Given the description of an element on the screen output the (x, y) to click on. 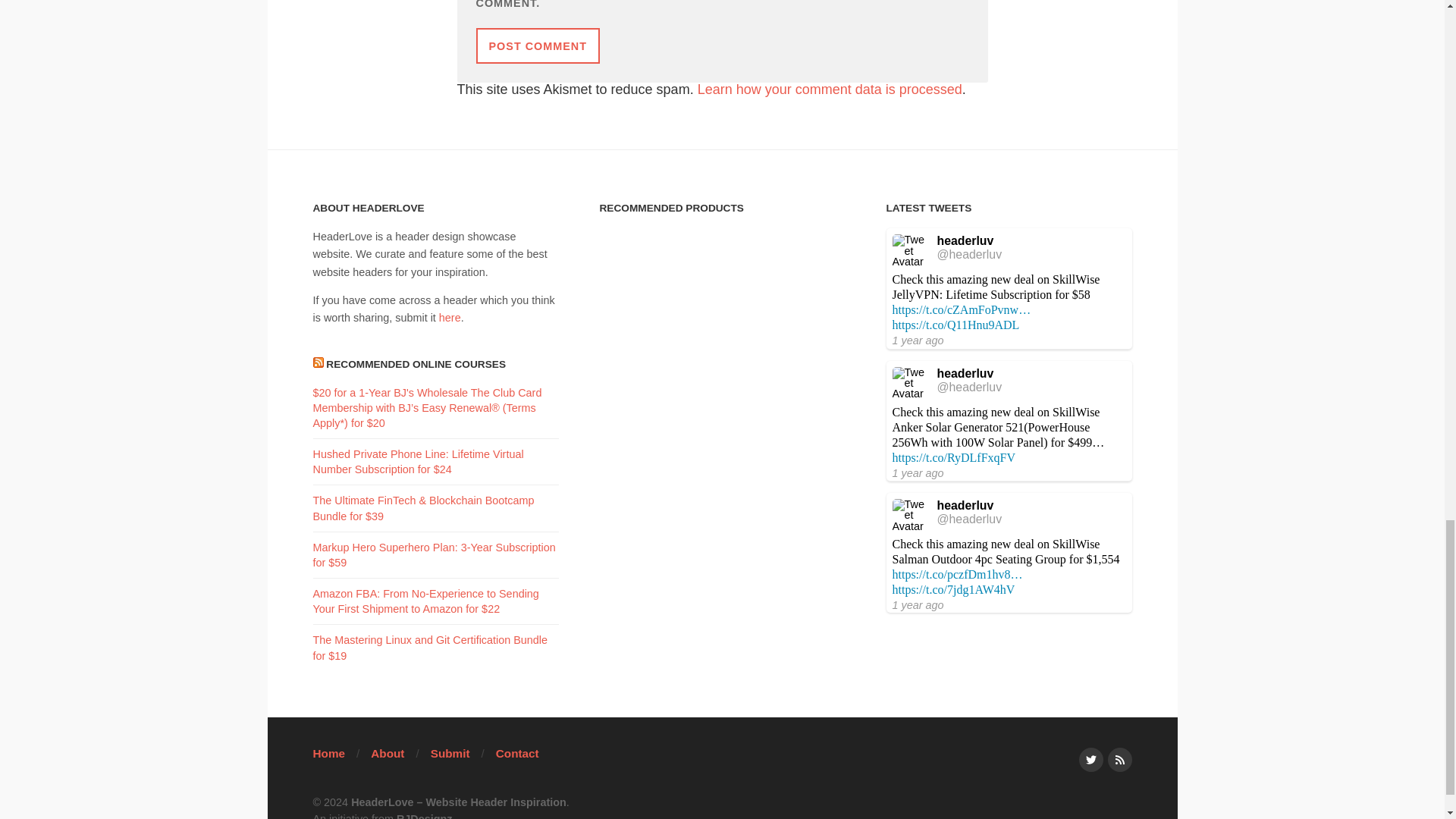
Post Comment (537, 45)
Learn how your comment data is processed (829, 89)
Post Comment (537, 45)
HeaderLove (458, 802)
RECOMMENDED ONLINE COURSES (415, 364)
here (450, 317)
